Given the description of an element on the screen output the (x, y) to click on. 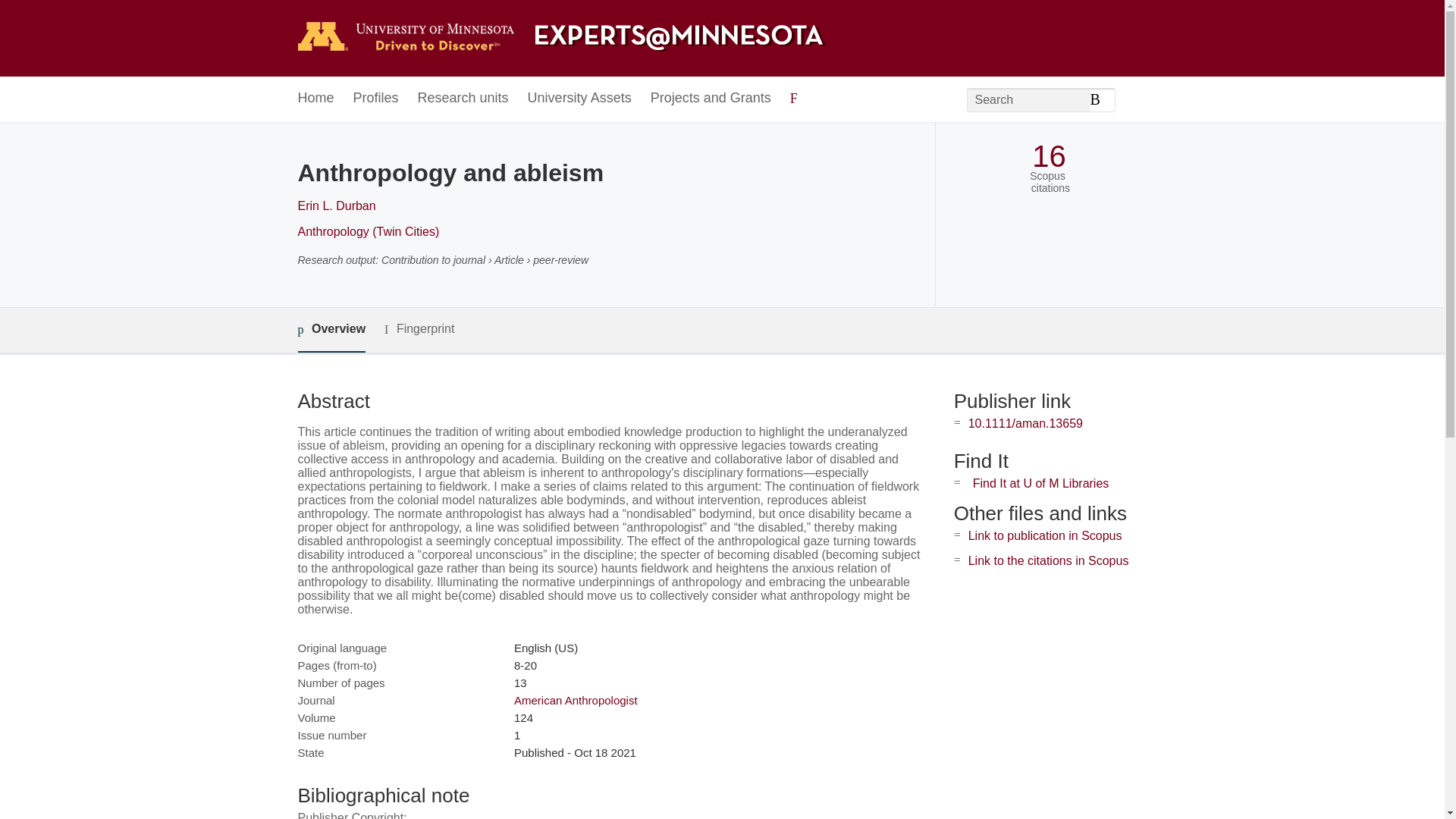
Research units (462, 98)
Link to the citations in Scopus (1048, 560)
16 (1048, 156)
Erin L. Durban (336, 205)
Profiles (375, 98)
University Assets (579, 98)
Link to publication in Scopus (1045, 535)
Find It at U of M Libraries (1040, 482)
Overview (331, 329)
Fingerprint (419, 329)
American Anthropologist (575, 699)
Projects and Grants (710, 98)
